Given the description of an element on the screen output the (x, y) to click on. 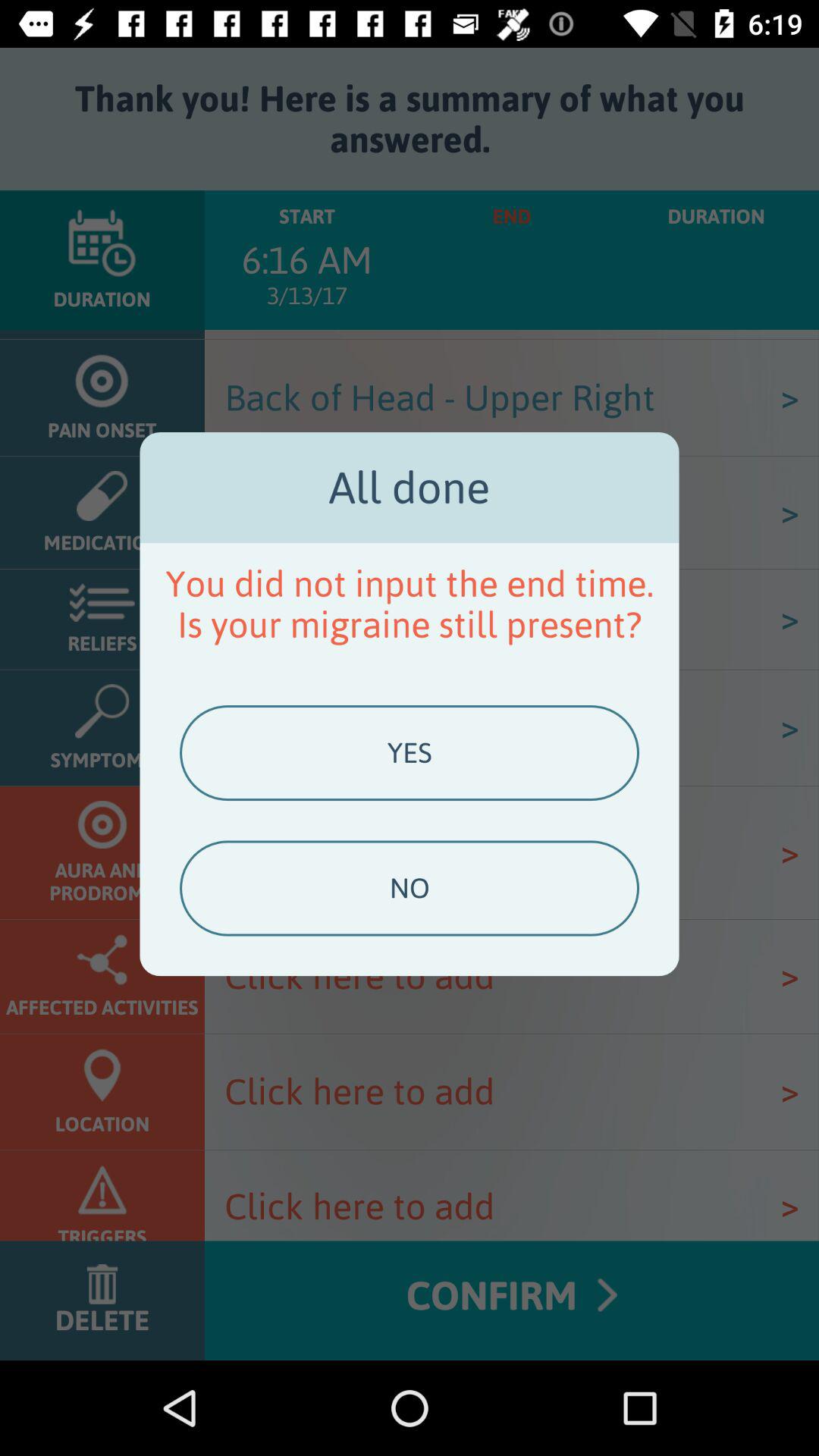
choose the yes icon (409, 752)
